Given the description of an element on the screen output the (x, y) to click on. 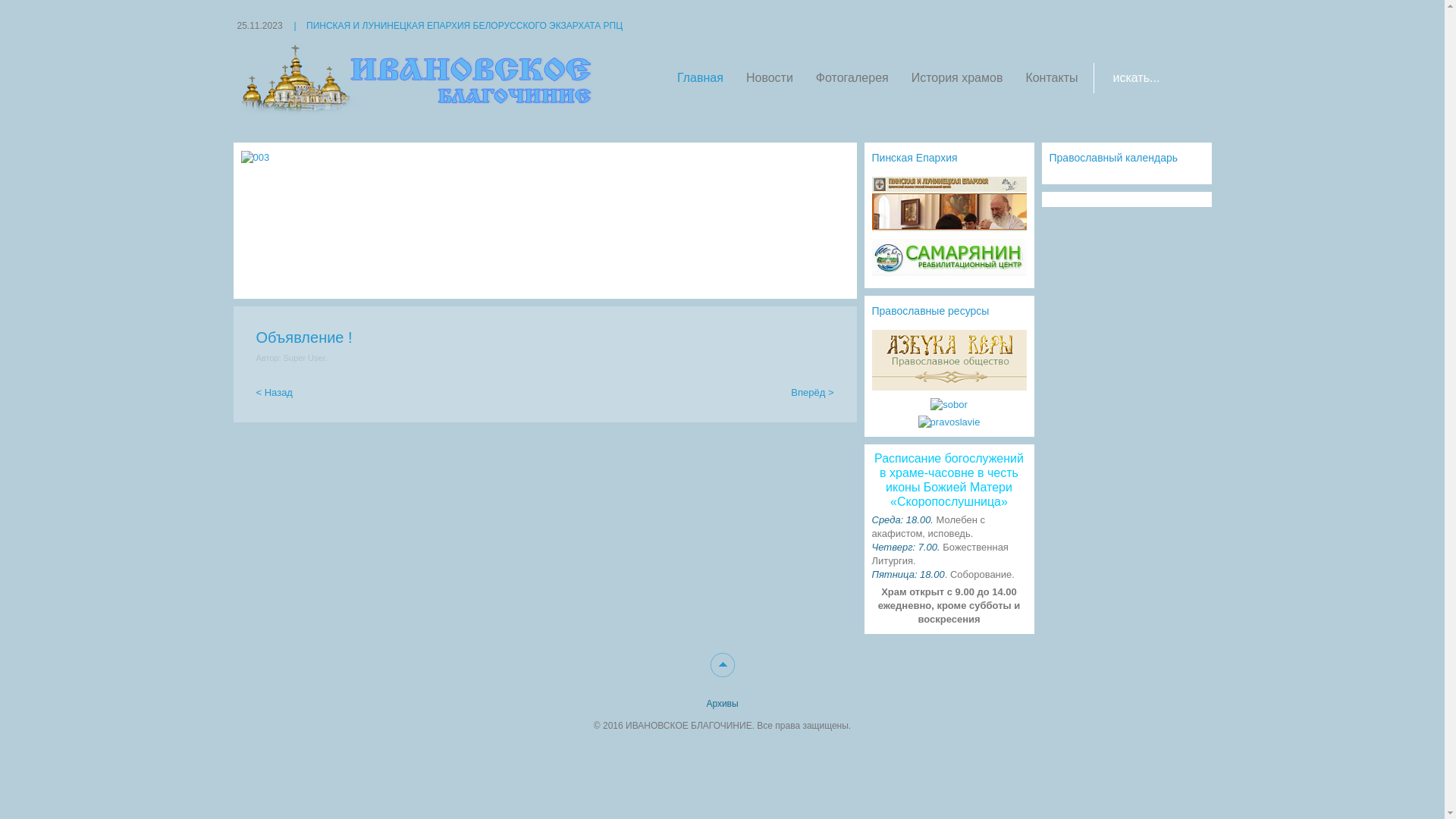
Reset Element type: text (3, 3)
LiveInternet Element type: hover (255, 747)
